Given the description of an element on the screen output the (x, y) to click on. 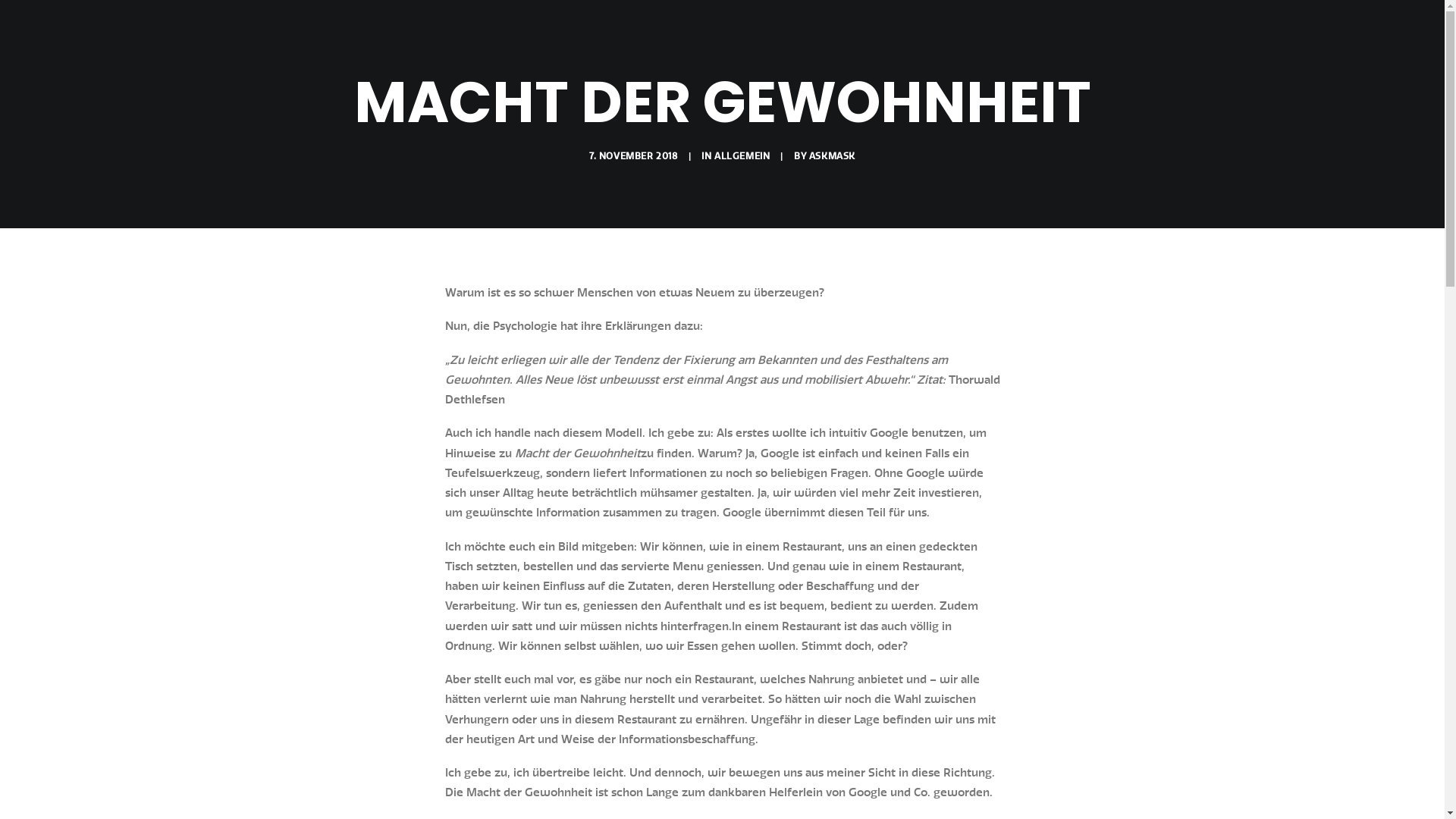
ALLGEMEIN Element type: text (741, 155)
ASKMASK Element type: text (832, 155)
